Given the description of an element on the screen output the (x, y) to click on. 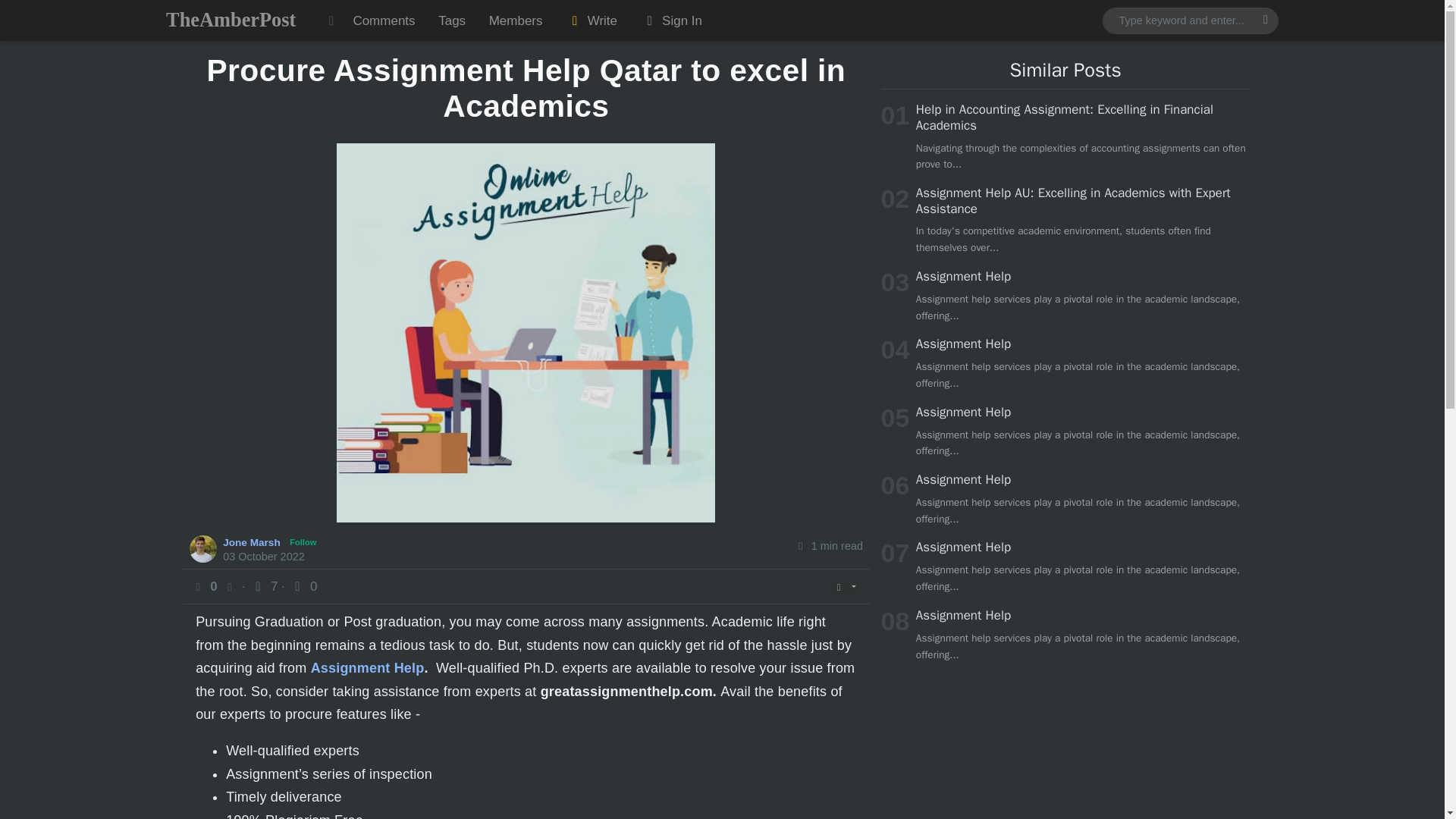
Members (515, 20)
Assignment Help (962, 343)
TheAmberPost (230, 20)
0 (302, 586)
Follow (302, 542)
Views (264, 586)
Sign In (670, 20)
Jone Marsh (252, 541)
Assignment Help (962, 546)
